Given the description of an element on the screen output the (x, y) to click on. 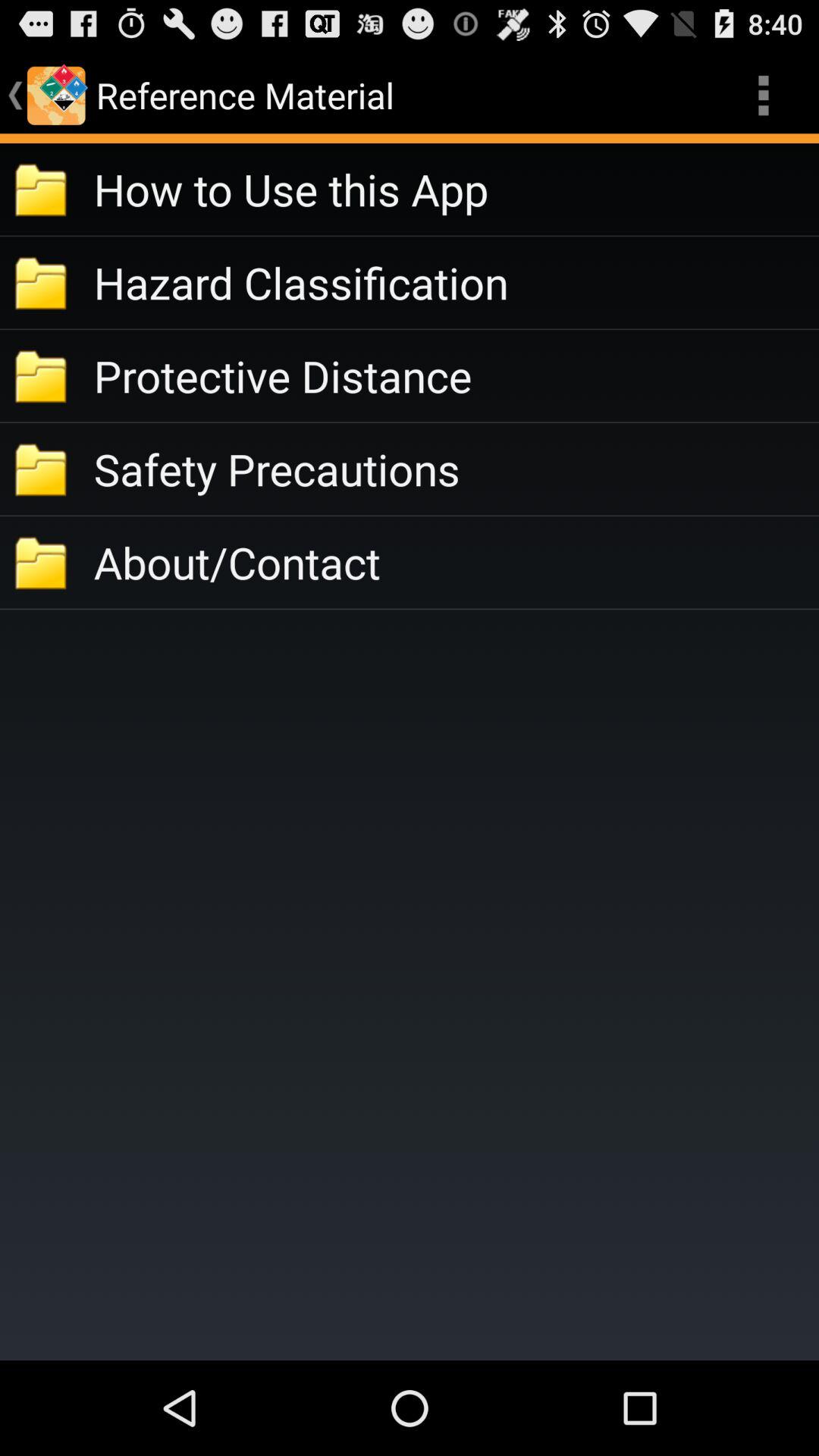
turn off the app to the right of reference material (763, 95)
